Given the description of an element on the screen output the (x, y) to click on. 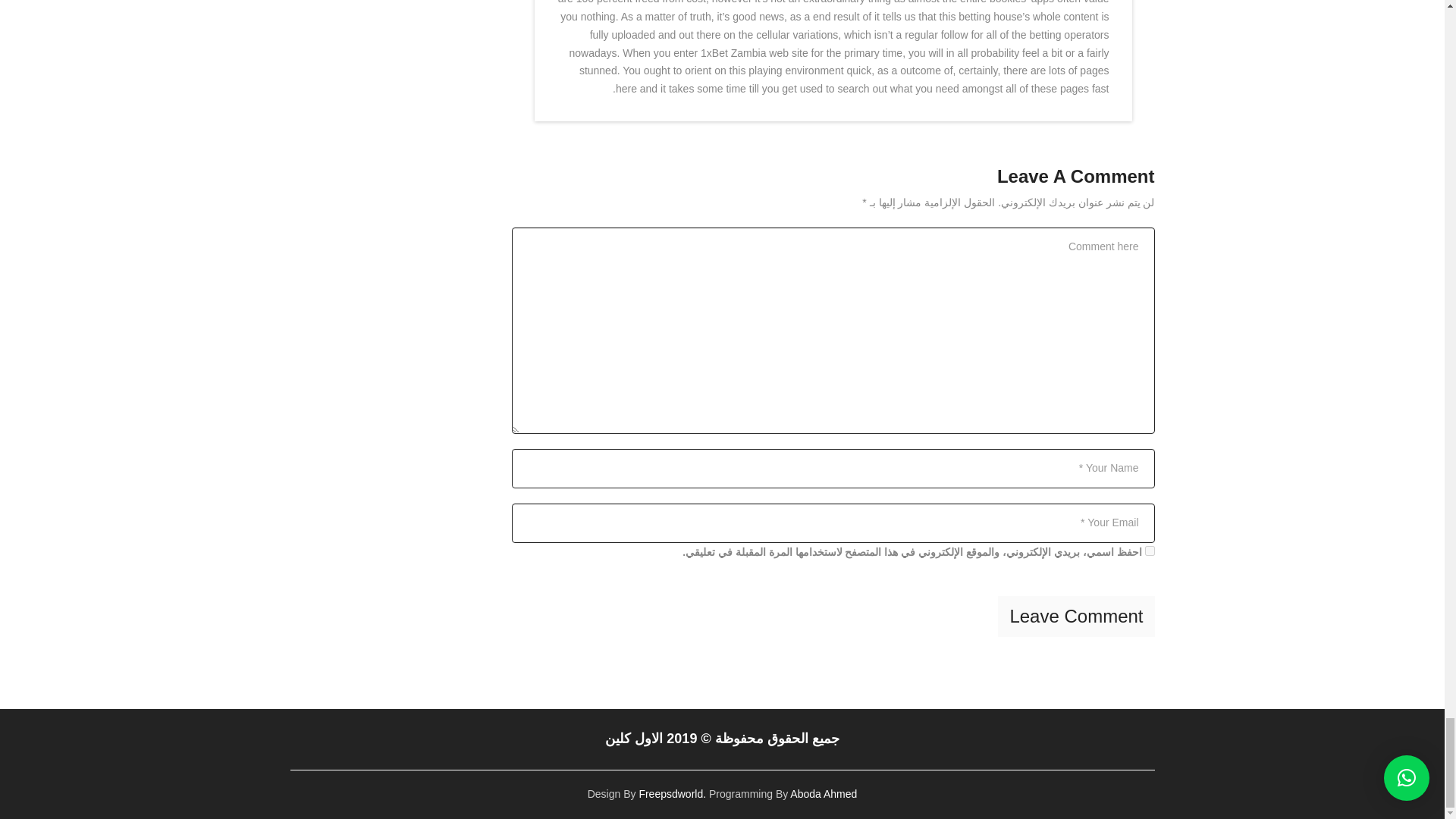
Leave Comment (1075, 616)
yes (1149, 551)
